Given the description of an element on the screen output the (x, y) to click on. 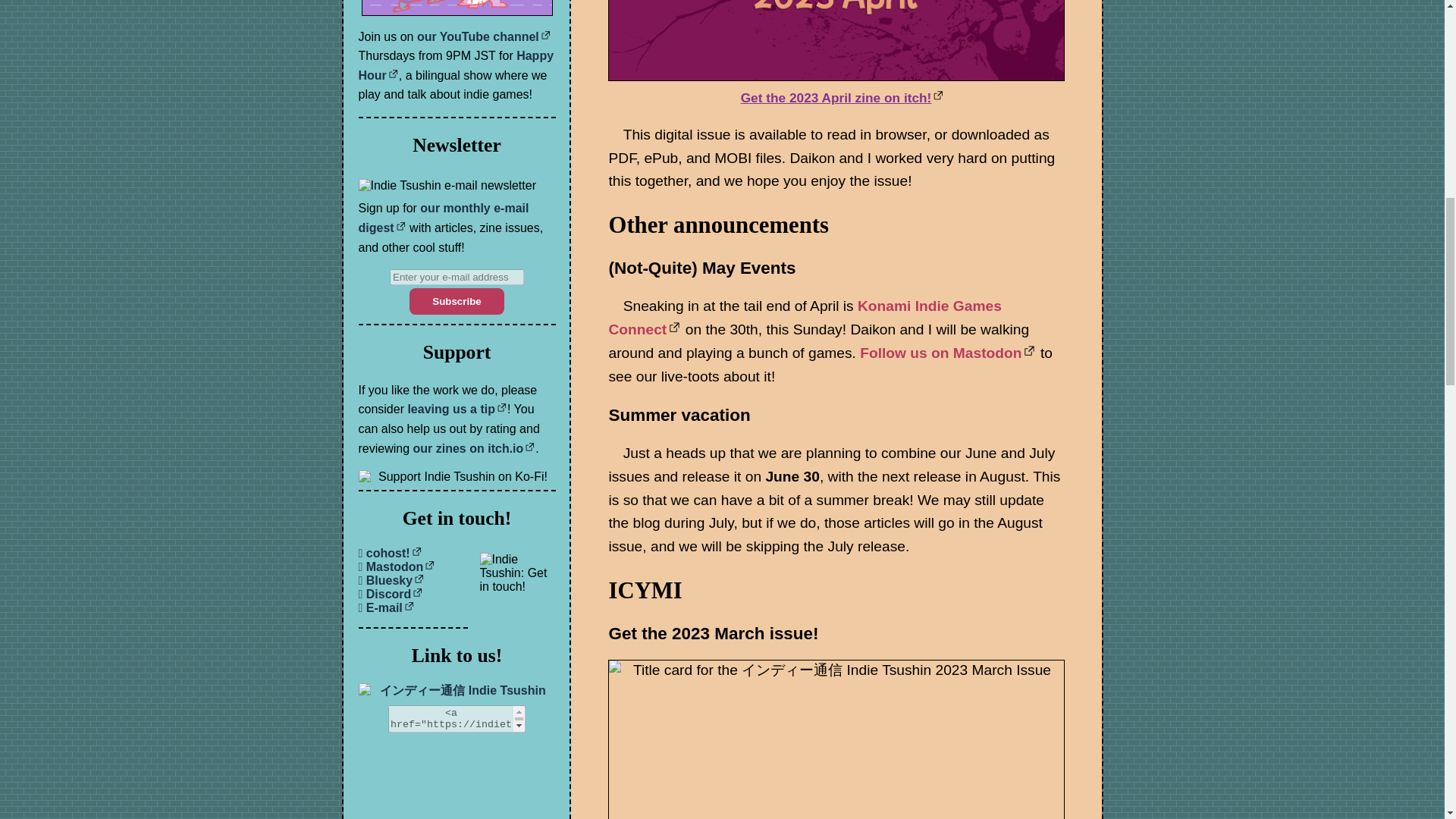
our zines on itch.io (474, 447)
Subscribe (456, 301)
Subscribe (456, 301)
Get the 2023 April zine on itch! (842, 97)
Konami Indie Games Connect (804, 317)
our YouTube channel (483, 36)
Follow us on Mastodon (947, 352)
our monthly e-mail digest (443, 217)
Happy Hour (455, 65)
leaving us a tip (456, 408)
